Given the description of an element on the screen output the (x, y) to click on. 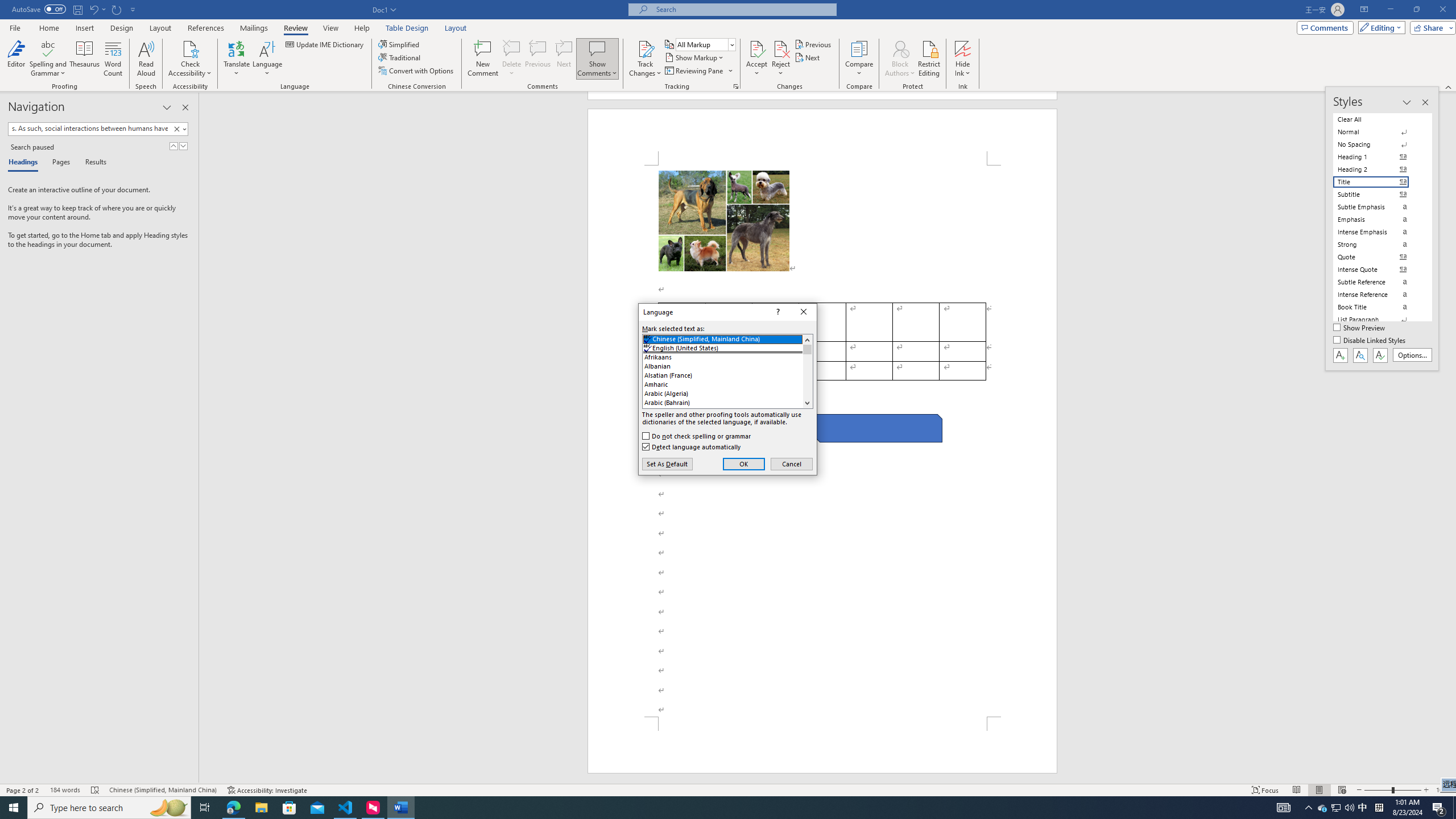
Show Preview (1362, 807)
Microsoft Edge - 1 running window (1360, 328)
Page down (233, 807)
Restrict Editing (807, 376)
Simplified (929, 58)
Delete (400, 44)
Hide Ink (511, 48)
Next Result (962, 48)
Change Tracking Options... (183, 145)
File Explorer (735, 85)
Word Count (261, 807)
